Given the description of an element on the screen output the (x, y) to click on. 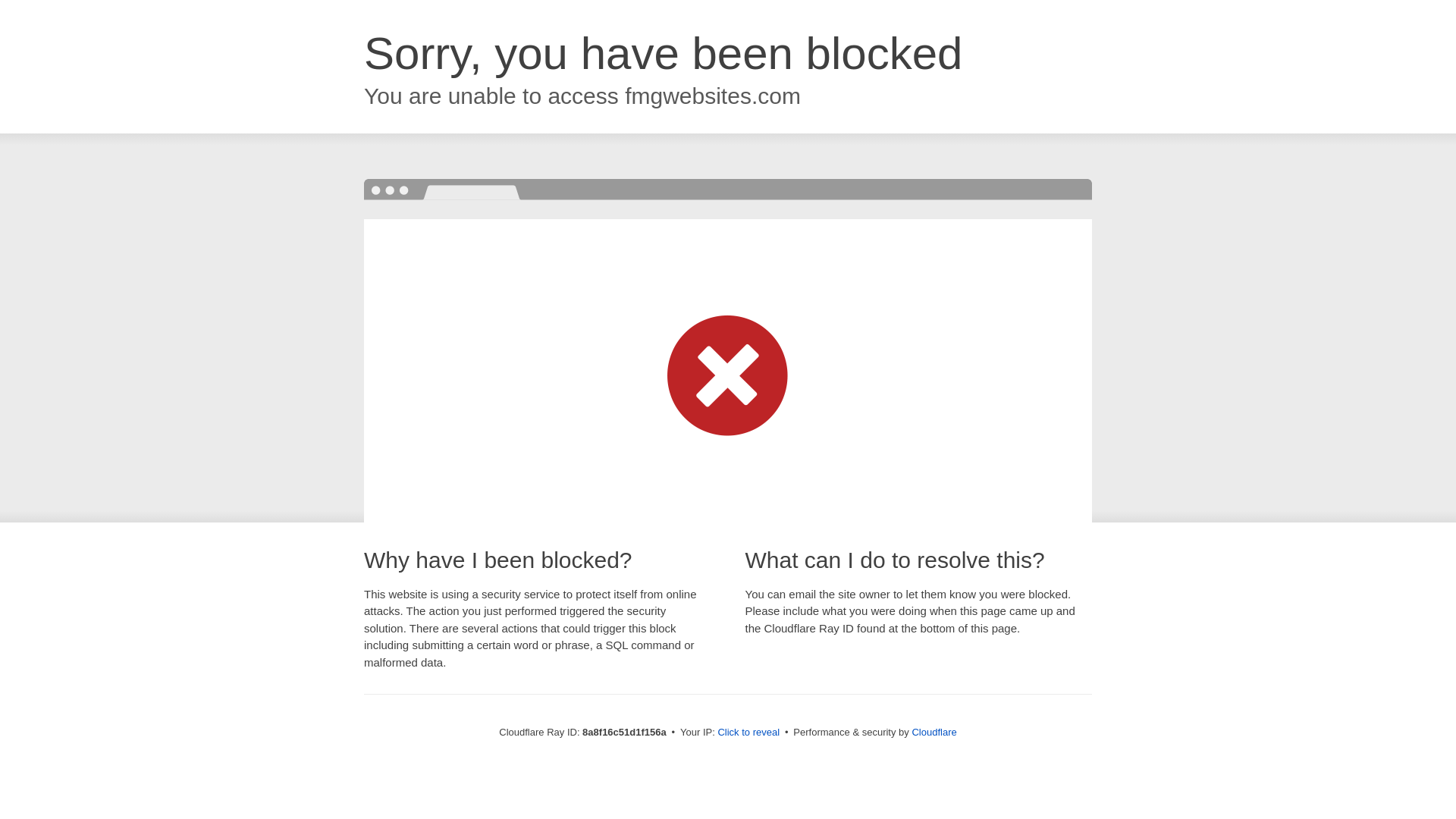
Cloudflare (933, 731)
Click to reveal (747, 732)
